Given the description of an element on the screen output the (x, y) to click on. 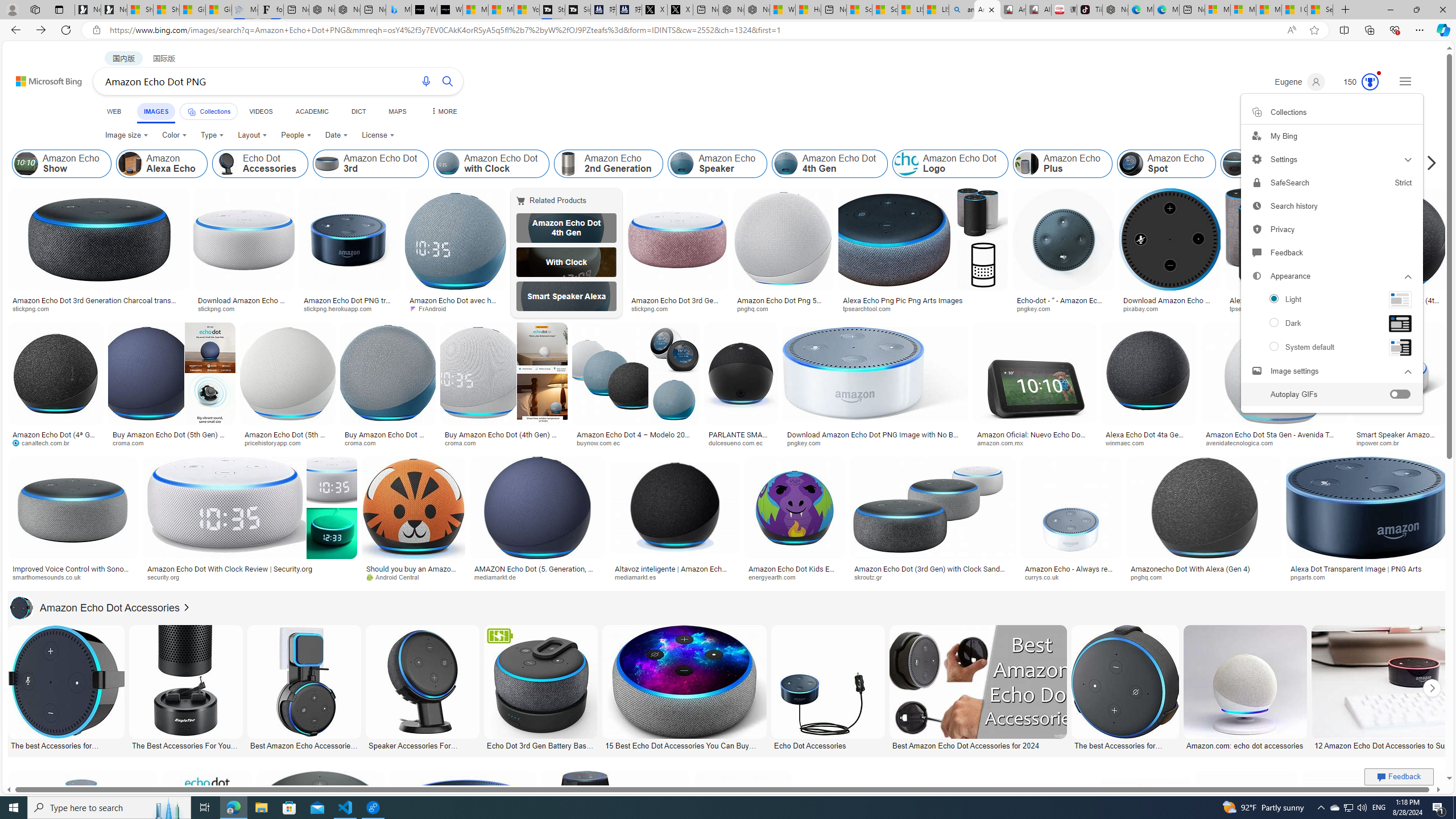
Amazon Echo Dot Logo (905, 163)
Gilma and Hector both pose tropical trouble for Hawaii (217, 9)
security.org (167, 576)
Microsoft Start Sports (475, 9)
pixabay.com (1144, 308)
amazon - Search (961, 9)
